Given the description of an element on the screen output the (x, y) to click on. 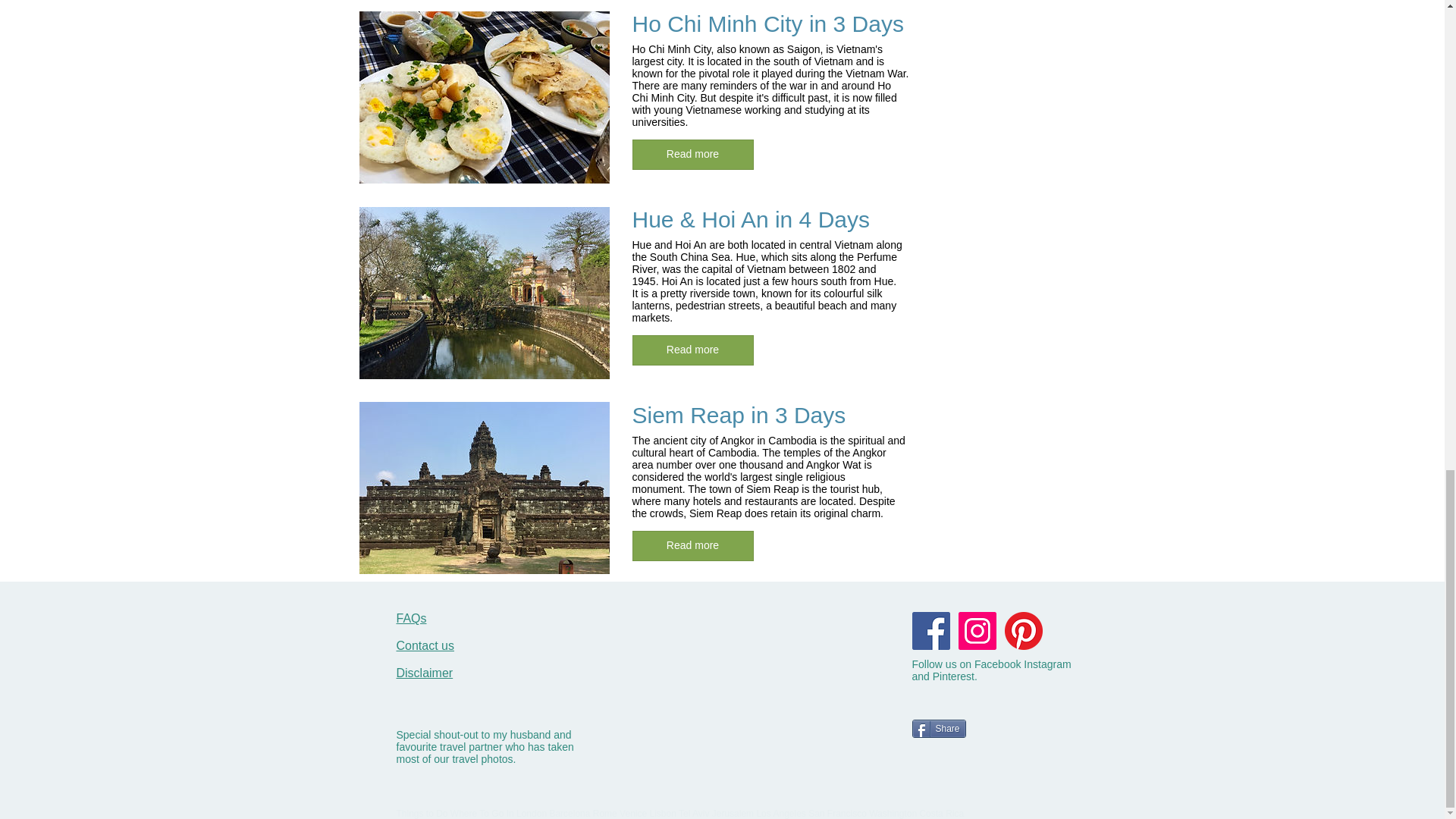
Facebook Like (940, 787)
Share (938, 728)
What to do in Hue, Where to go in Hue Hoi An Vietnam (484, 292)
